Given the description of an element on the screen output the (x, y) to click on. 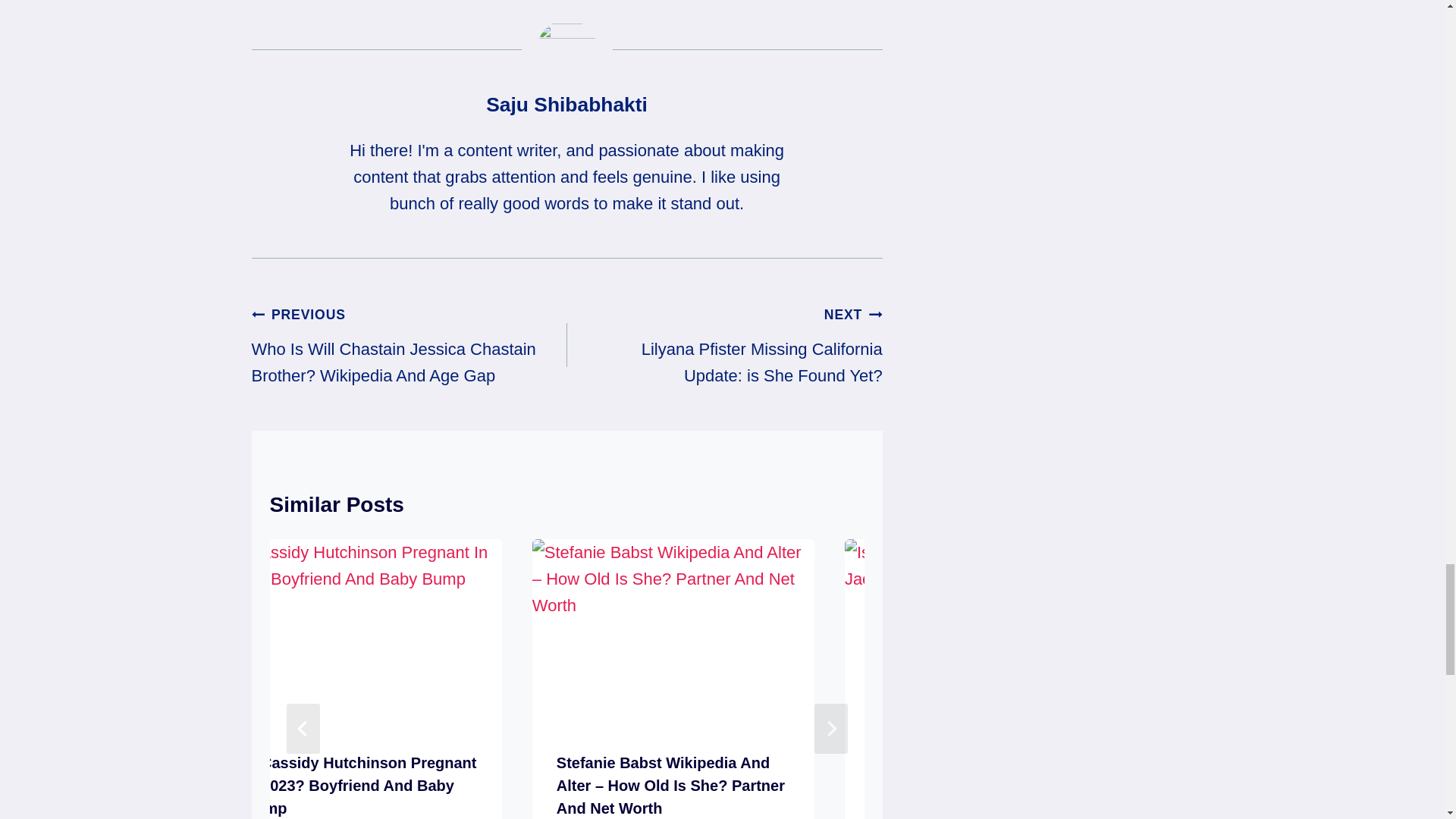
Saju Shibabhakti (566, 104)
Posts by Saju Shibabhakti (566, 104)
